Given the description of an element on the screen output the (x, y) to click on. 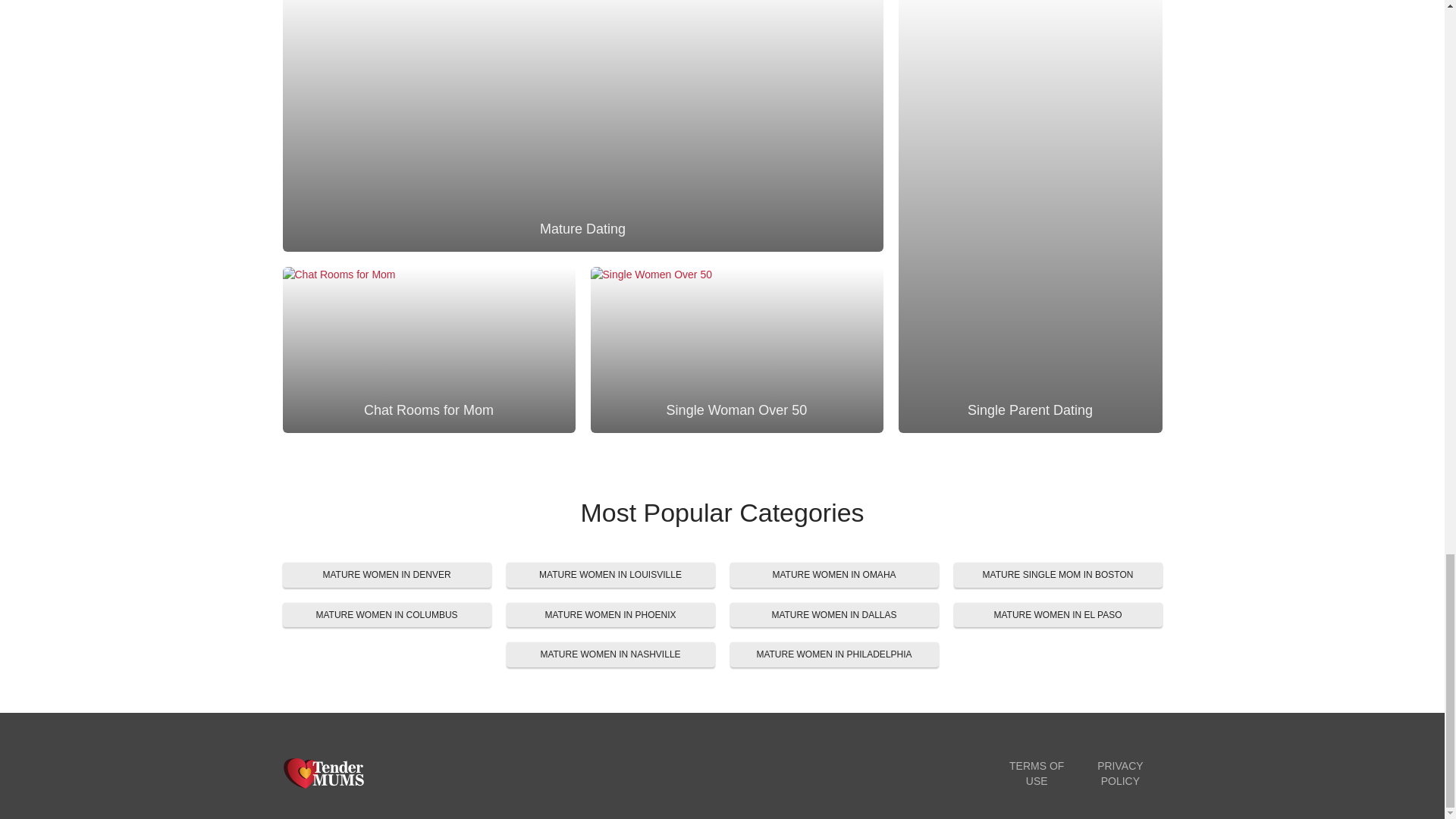
Mature Women in Columbus (386, 615)
Mature Women in Dallas (833, 615)
MATURE WOMEN IN EL PASO (1057, 615)
MATURE WOMEN IN OMAHA (833, 575)
MATURE WOMEN IN PHOENIX (610, 615)
MATURE SINGLE MOM IN BOSTON (1057, 575)
Single Woman Over 50 (735, 340)
MATURE WOMEN IN COLUMBUS (386, 615)
Mature Women in El Paso (1057, 615)
Mature Women in Philadelphia (833, 654)
Mature Single Mom in Boston (1057, 575)
Mature Women in Denver (386, 575)
Mature Women in Phoenix (610, 615)
Chat Rooms for Mom (428, 340)
